Given the description of an element on the screen output the (x, y) to click on. 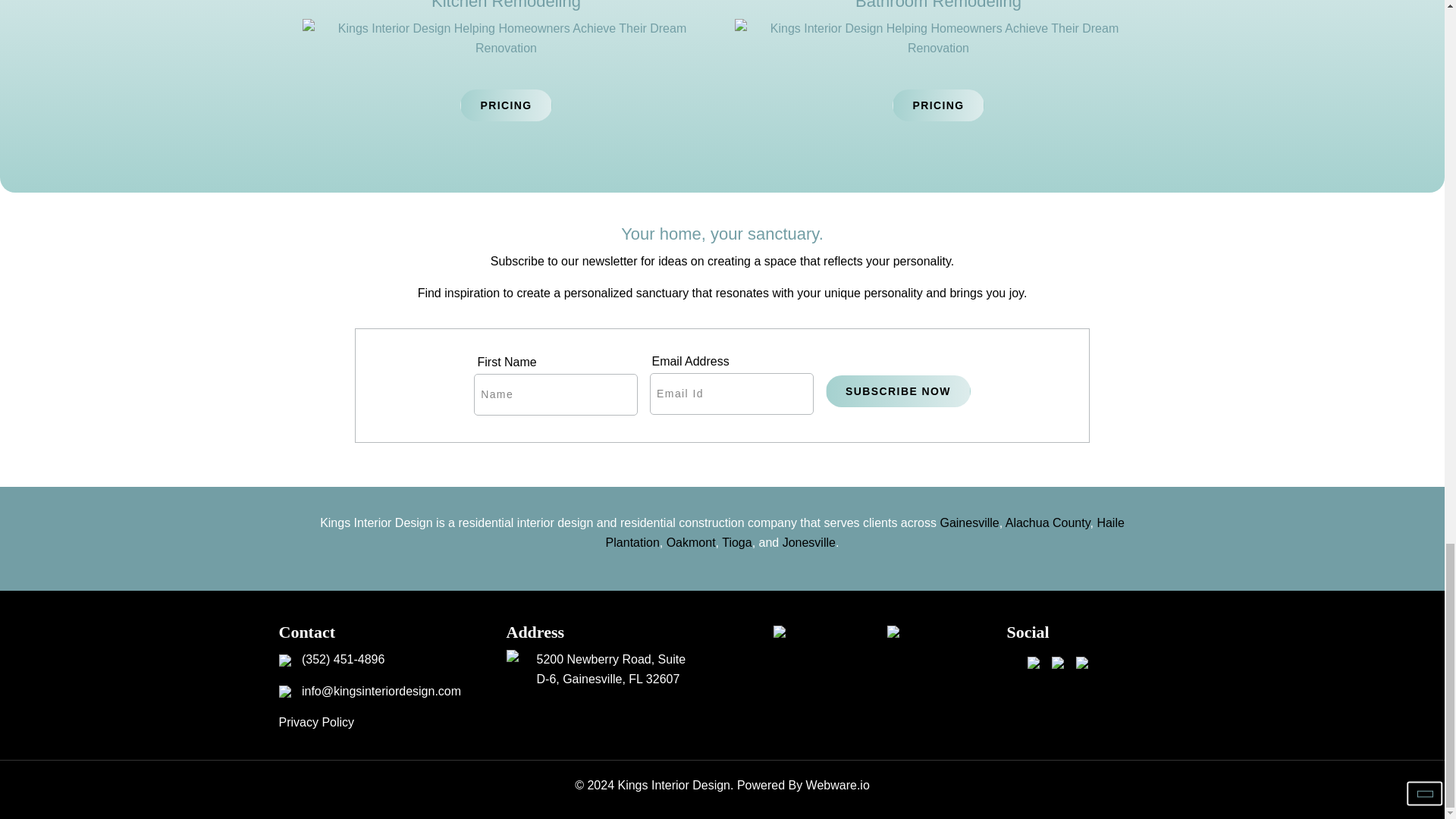
Subscribe now (898, 391)
Oakmont (691, 542)
Gainesville (968, 522)
PRICING (505, 105)
Jonesville (809, 542)
Subscribe now (898, 391)
Haile Plantation (864, 532)
Privacy Policy (317, 721)
